Given the description of an element on the screen output the (x, y) to click on. 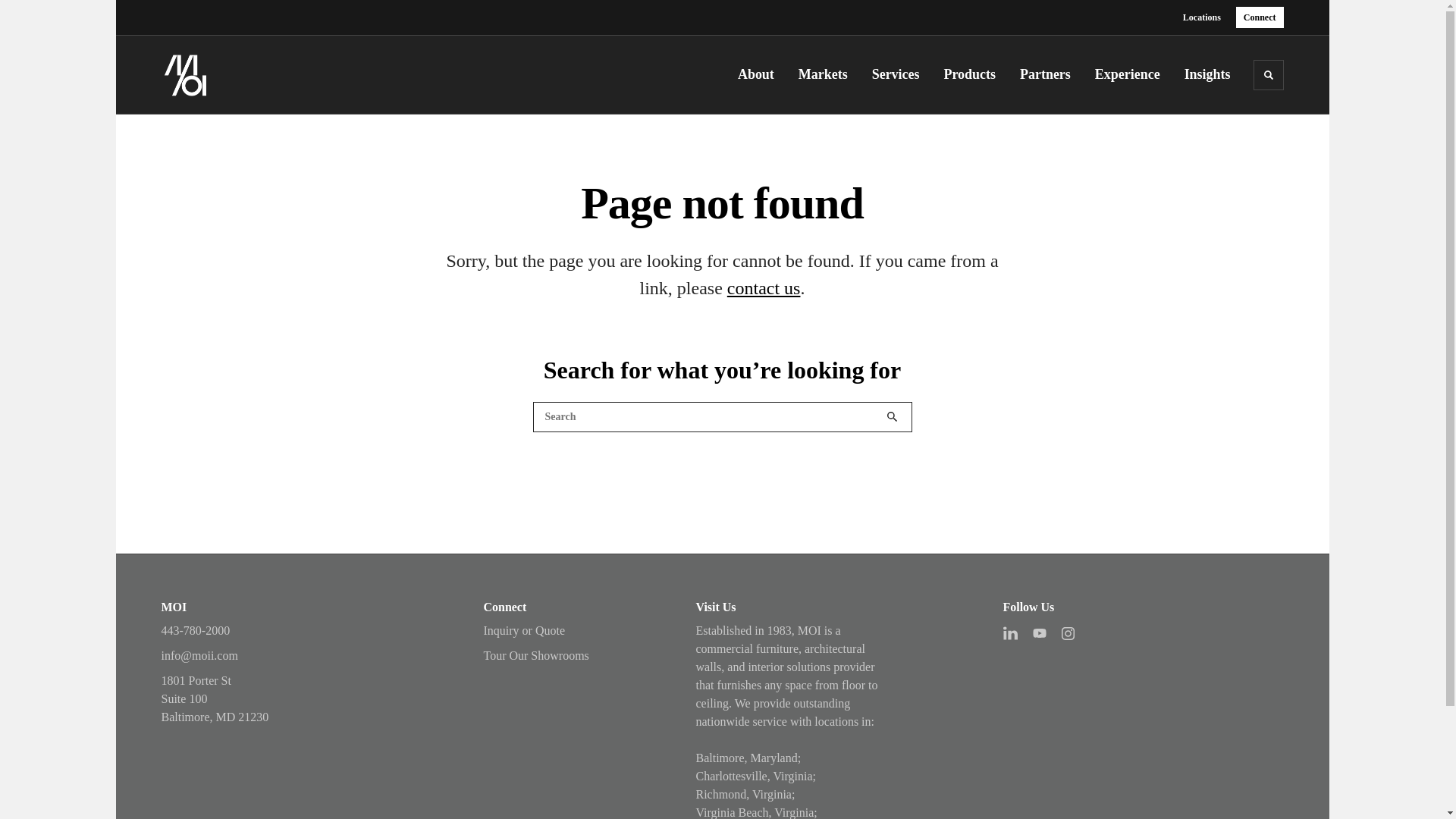
Experience (1132, 74)
About (761, 74)
MOI (236, 73)
Insights (1207, 74)
Markets (828, 74)
Partners (1045, 74)
Locations (1201, 17)
Locations (1201, 17)
Markets (828, 74)
Insights (1207, 74)
Experience (1132, 74)
Services (901, 74)
Partners (1045, 74)
Products (974, 74)
